Given the description of an element on the screen output the (x, y) to click on. 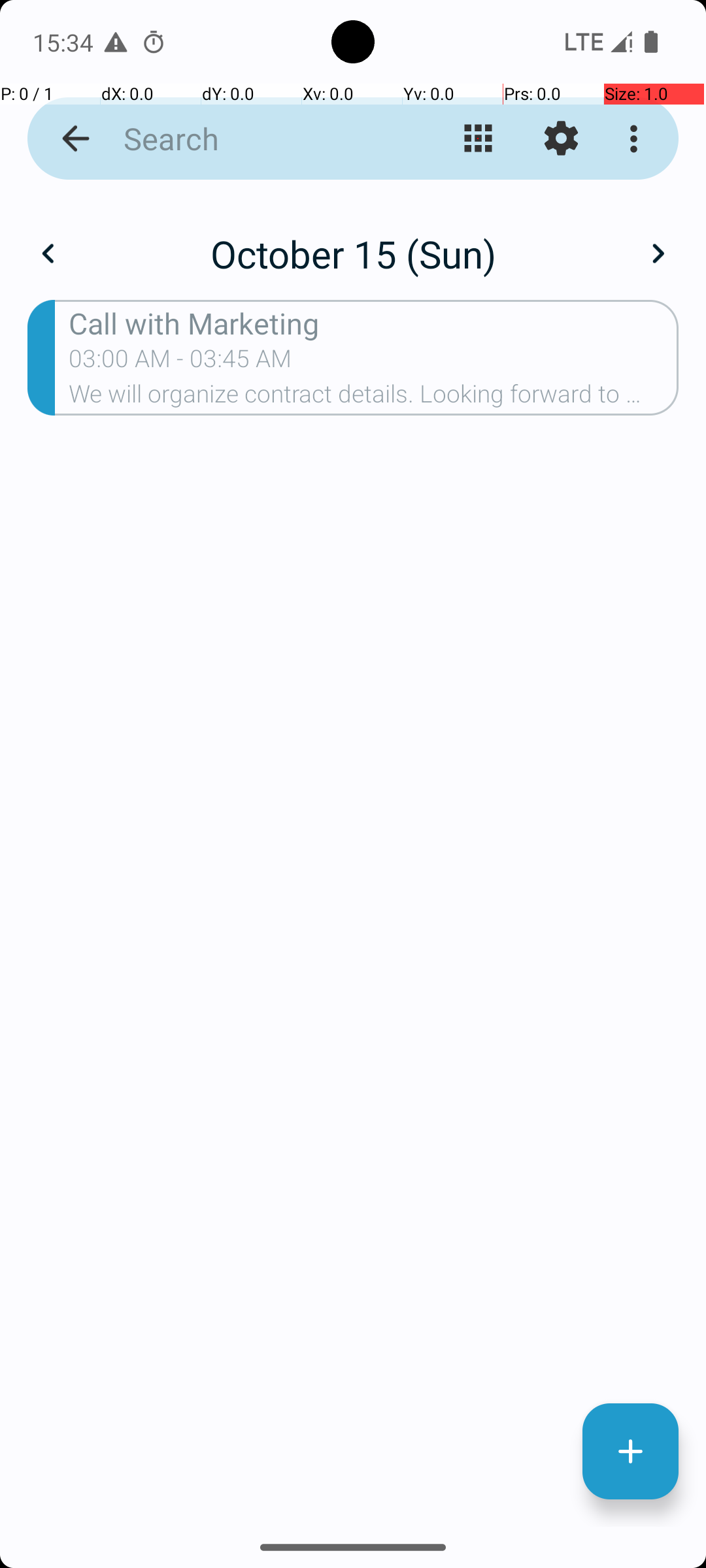
October 15 (Sun) Element type: android.widget.TextView (352, 253)
Call with Marketing Element type: android.widget.TextView (373, 321)
03:00 AM - 03:45 AM Element type: android.widget.TextView (179, 362)
We will organize contract details. Looking forward to productive discussions. Element type: android.widget.TextView (373, 397)
